Given the description of an element on the screen output the (x, y) to click on. 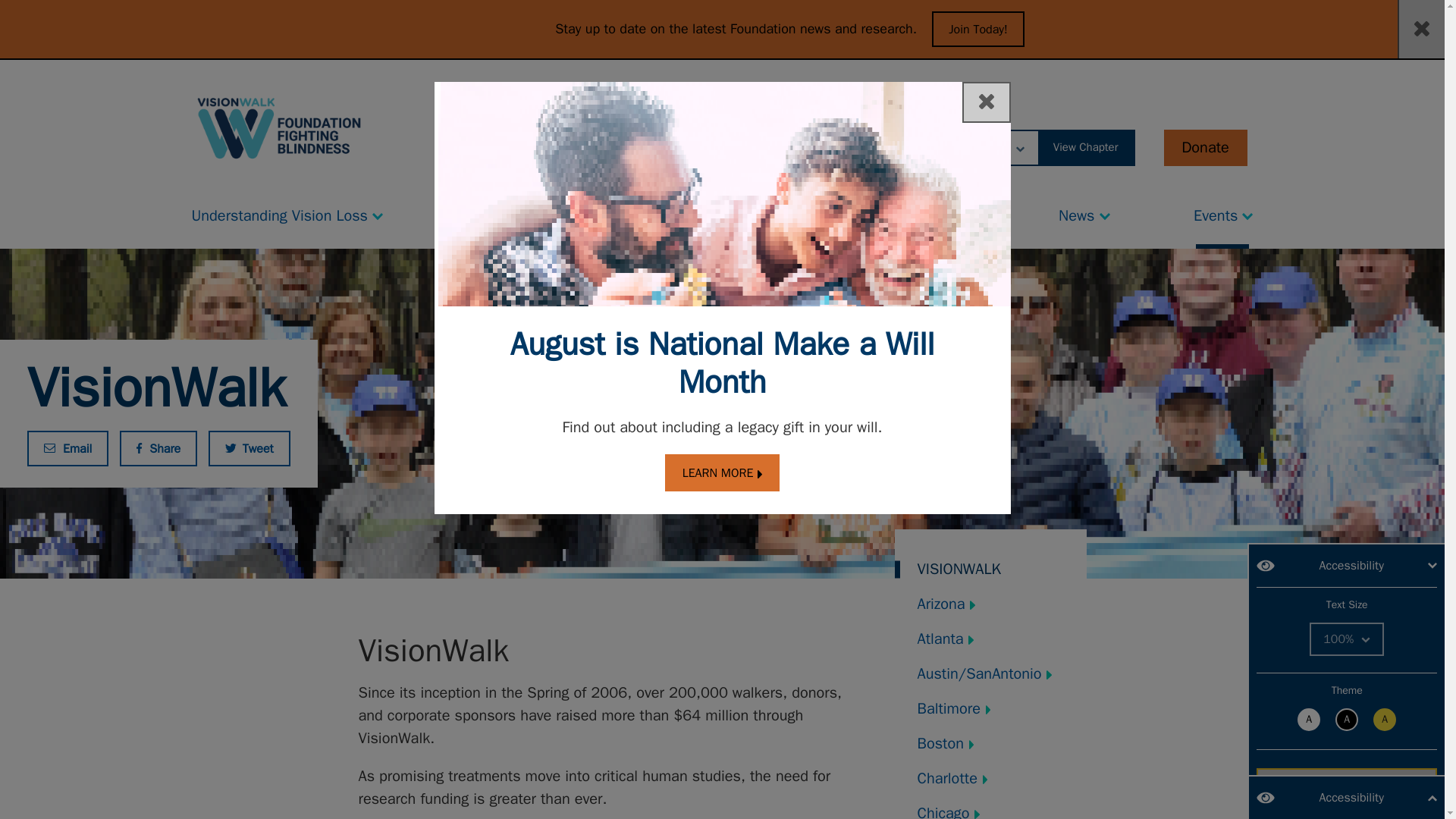
Join Today! (978, 28)
Living With Vision Loss (550, 211)
Donate (1204, 147)
Close (985, 101)
Understanding Vision Loss (286, 211)
View Chapter (1086, 147)
LEARN MORE (722, 472)
Search (811, 147)
Research (755, 211)
